Given the description of an element on the screen output the (x, y) to click on. 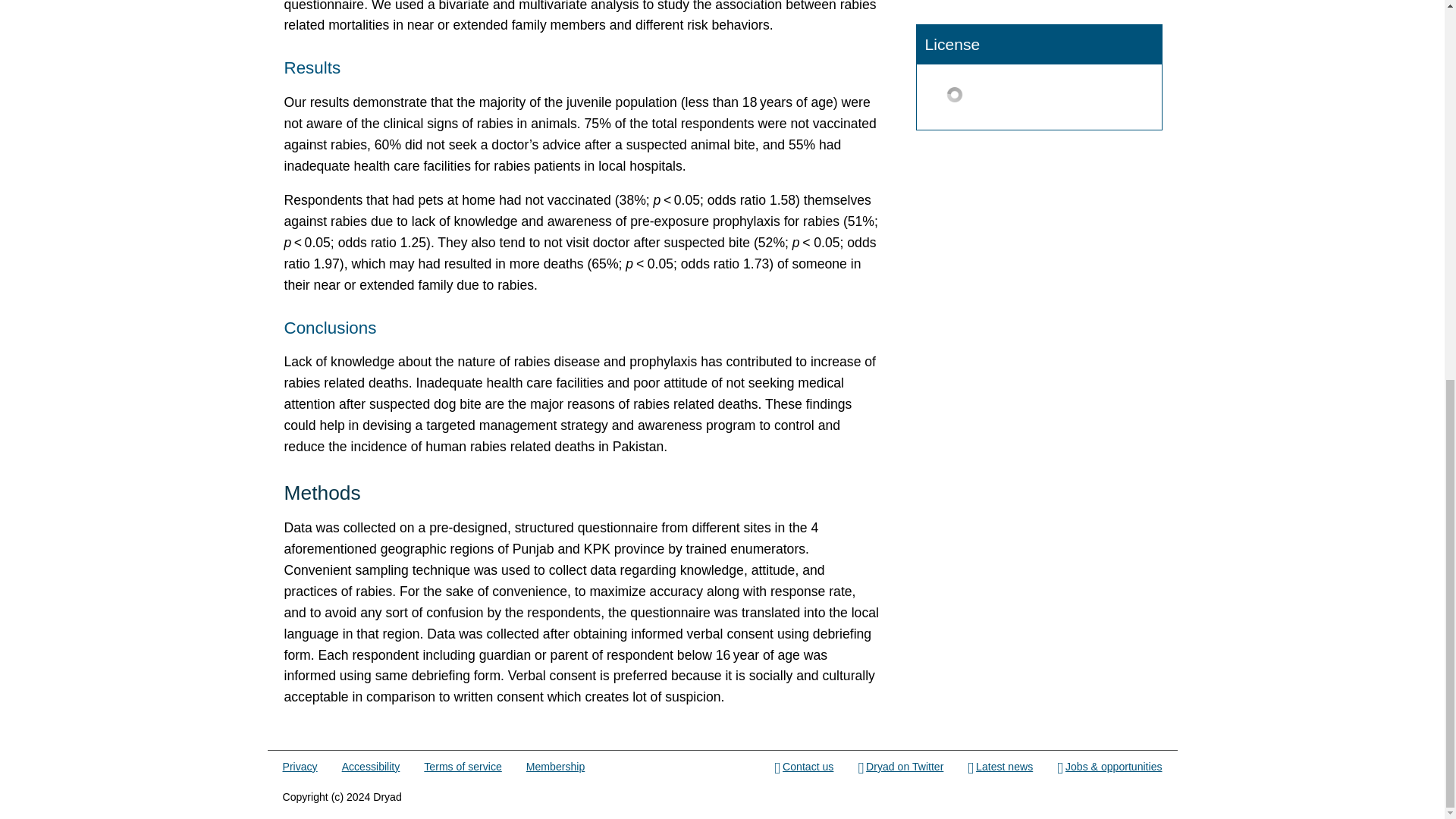
Terms of service (461, 767)
Accessibility (371, 767)
Privacy (299, 767)
